Given the description of an element on the screen output the (x, y) to click on. 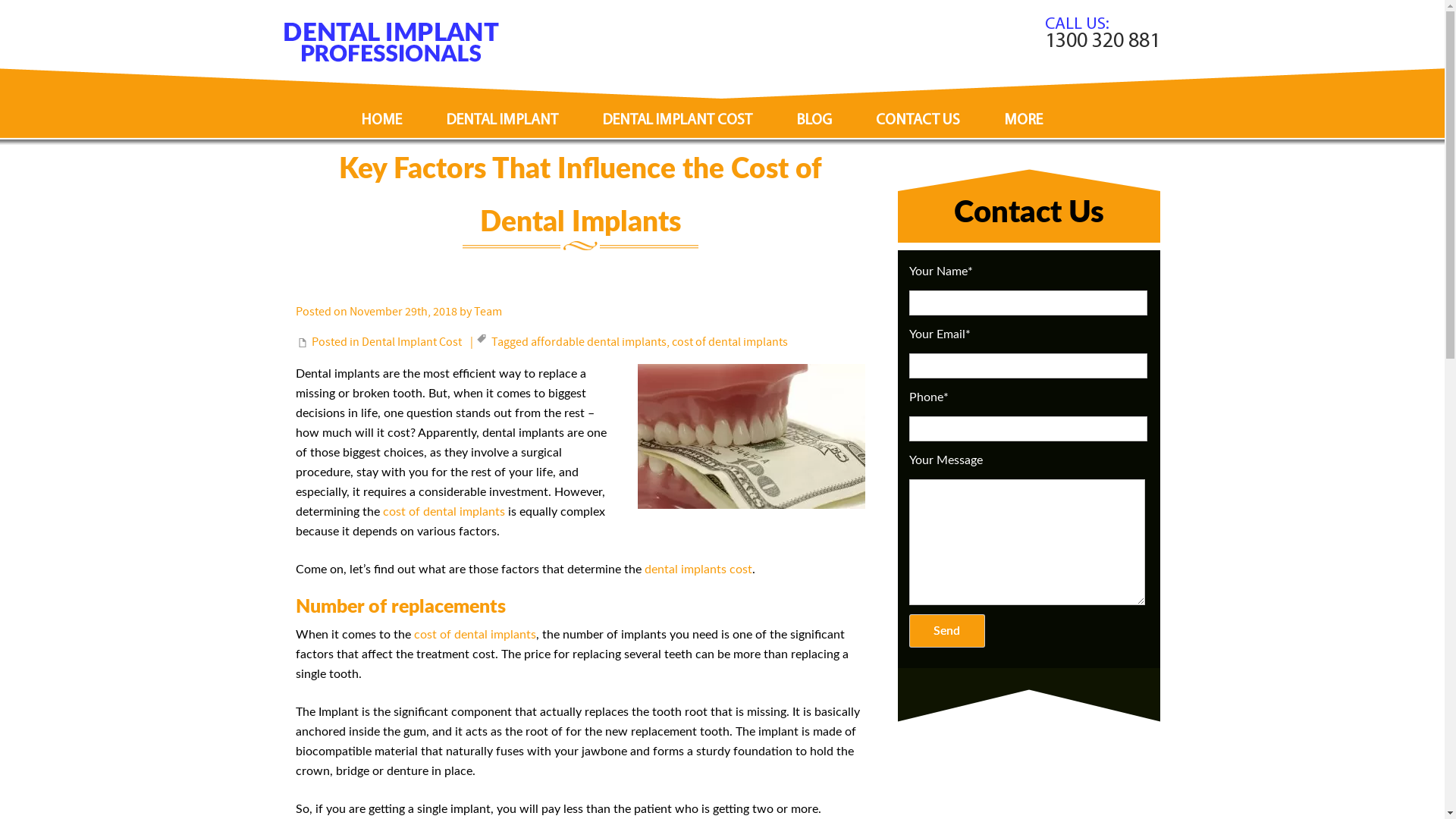
DENTAL IMPLANT COST Element type: text (676, 106)
cost of dental implants Element type: text (443, 511)
Send Element type: text (946, 630)
affordable dental implants Element type: text (598, 341)
cost of dental implants Element type: text (729, 341)
MORE Element type: text (1022, 106)
BLOG Element type: text (813, 106)
HOME Element type: text (381, 106)
dental implants cost Element type: text (698, 569)
cost of dental implants Element type: text (475, 634)
1300 320 881 Element type: text (1102, 41)
Dental Implant Professionals Element type: hover (391, 58)
CONTACT US Element type: text (917, 106)
Dental Implant Professionals Element type: hover (391, 42)
DENTAL IMPLANT Element type: text (501, 106)
Dental Implant Cost Element type: text (411, 341)
